Given the description of an element on the screen output the (x, y) to click on. 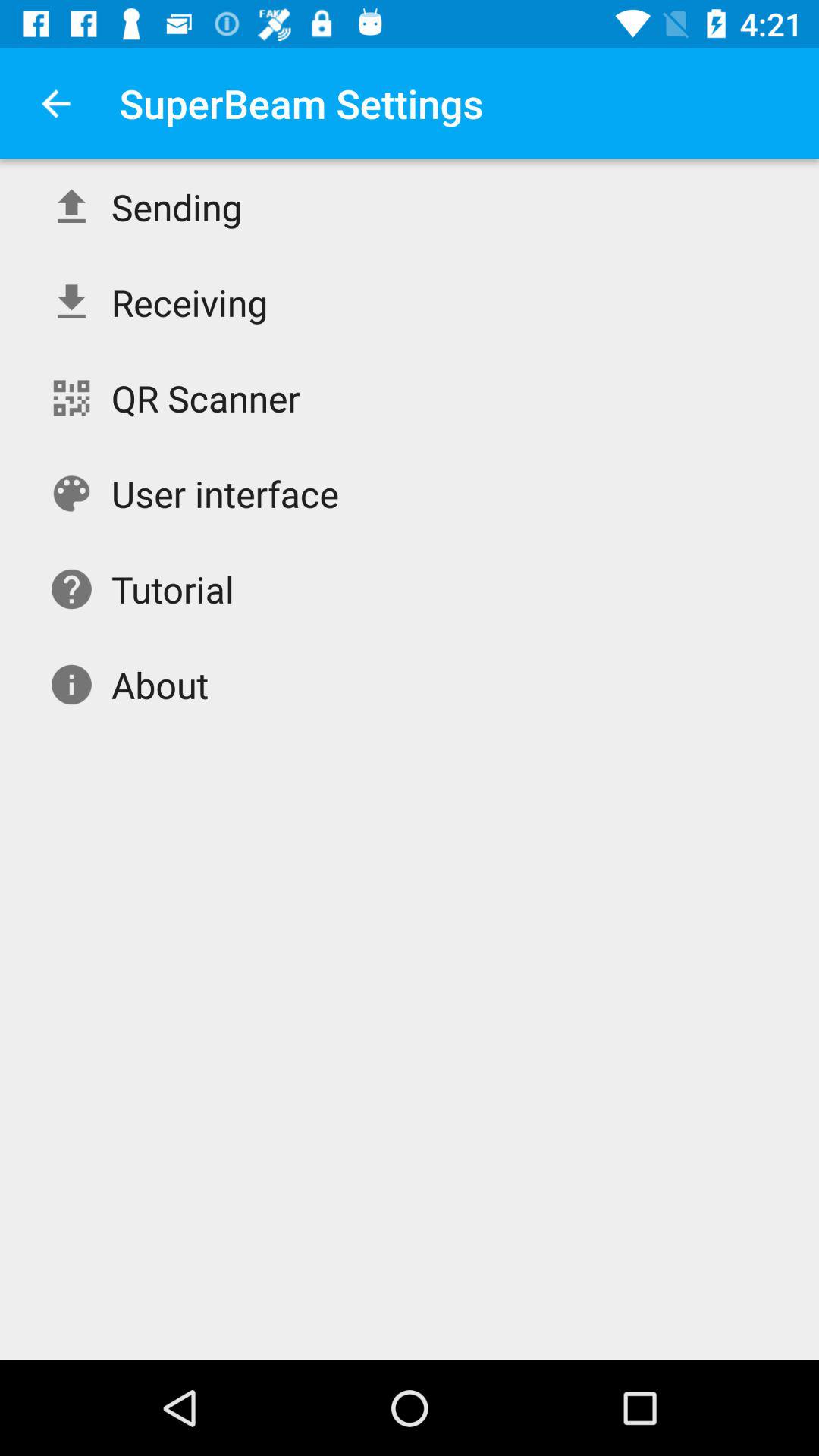
swipe to user interface (224, 493)
